Given the description of an element on the screen output the (x, y) to click on. 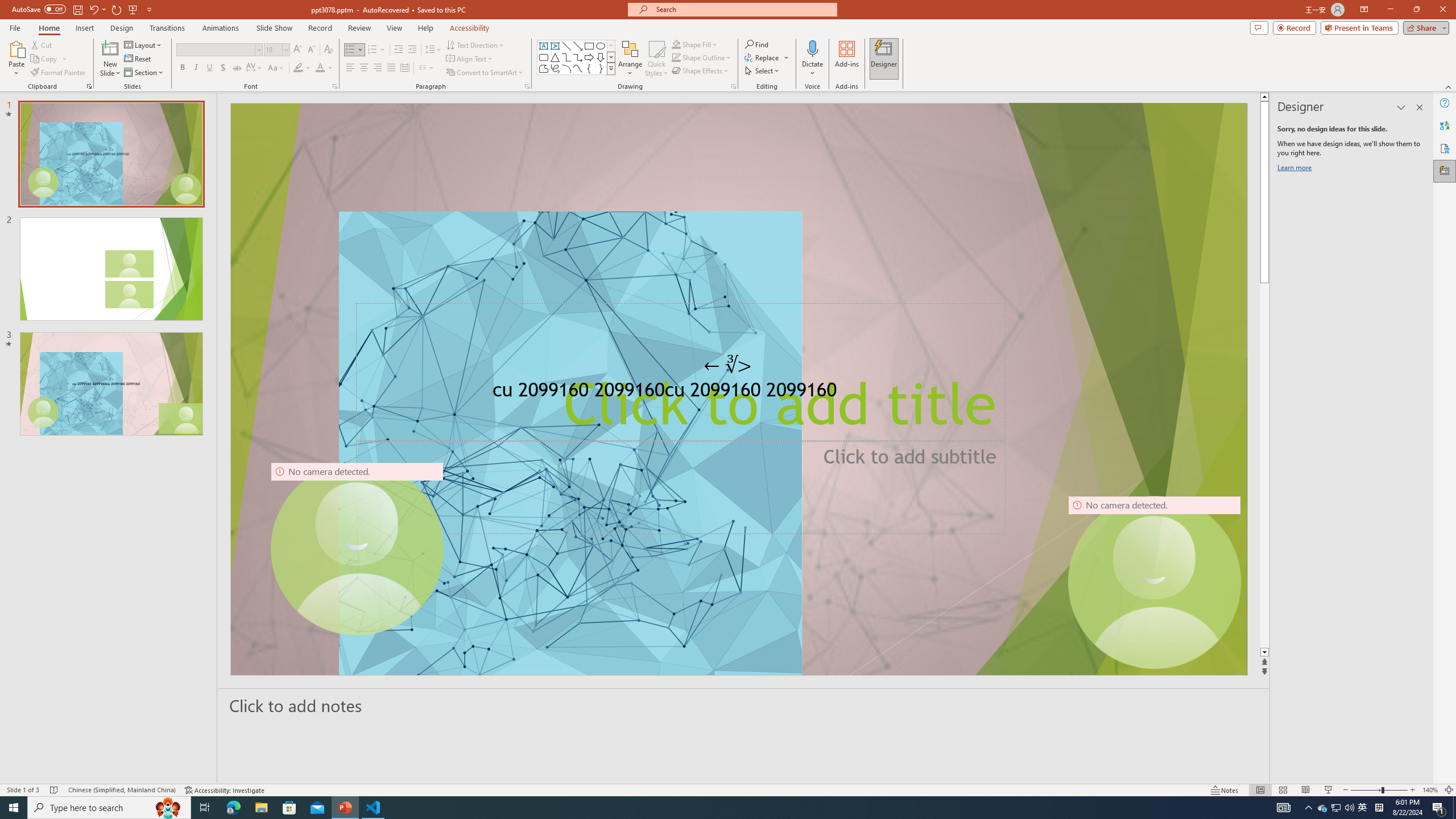
Shape Fill Dark Green, Accent 2 (675, 44)
